Given the description of an element on the screen output the (x, y) to click on. 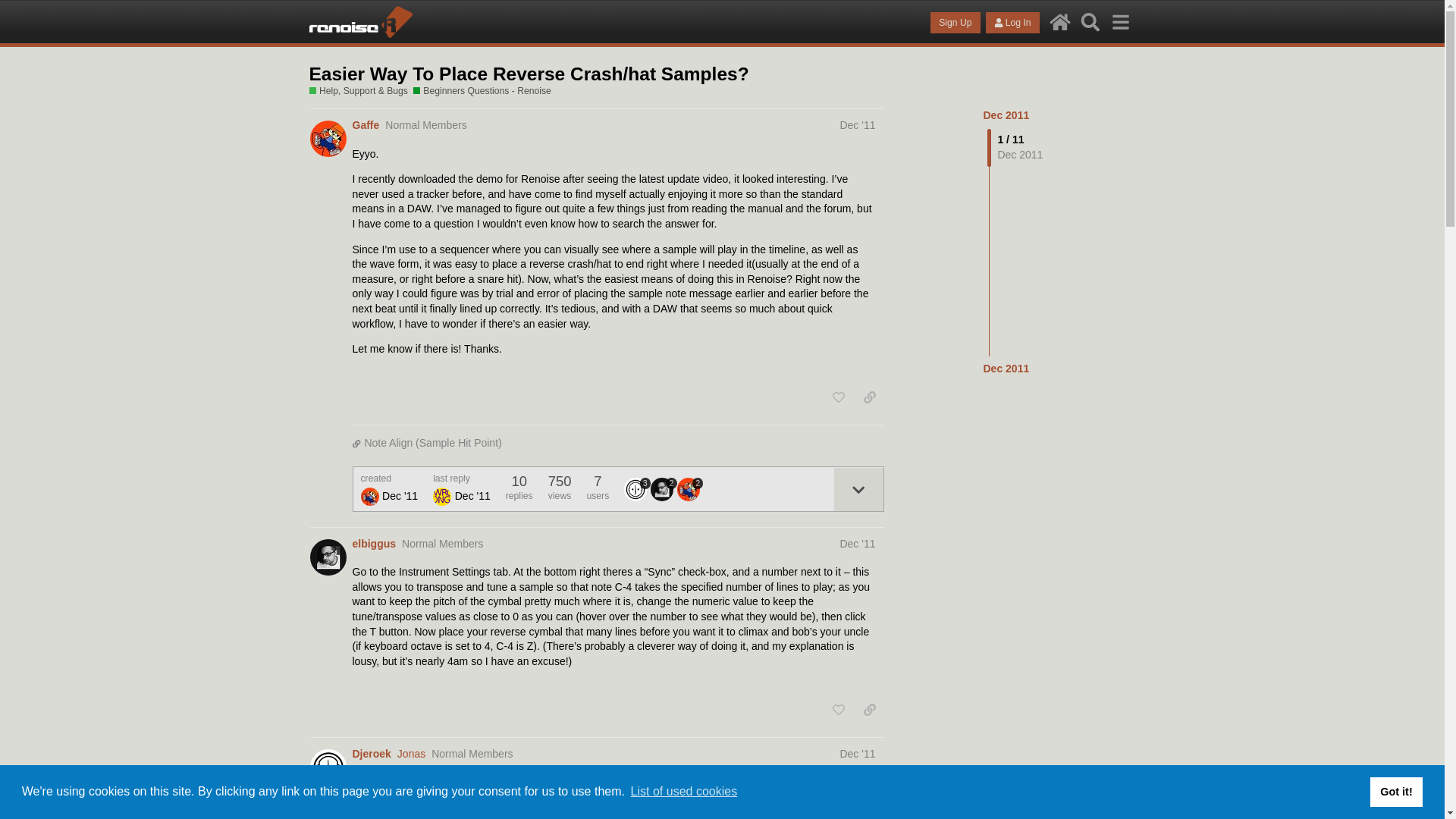
copy a link to this post to clipboard (869, 396)
Beginners Questions - Renoise (482, 91)
Djeroek (371, 754)
Dec 15, 2011 12:04 am (472, 495)
Jonas (411, 753)
Got it! (1396, 791)
2 (663, 488)
Dec 2011 (1005, 368)
Gaffe (365, 125)
Sam (441, 496)
last reply (461, 478)
Dec 15, 2011 12:04 am (1005, 368)
Djeroek (635, 488)
Back to www.renoise.com (1060, 21)
menu (1120, 21)
